Given the description of an element on the screen output the (x, y) to click on. 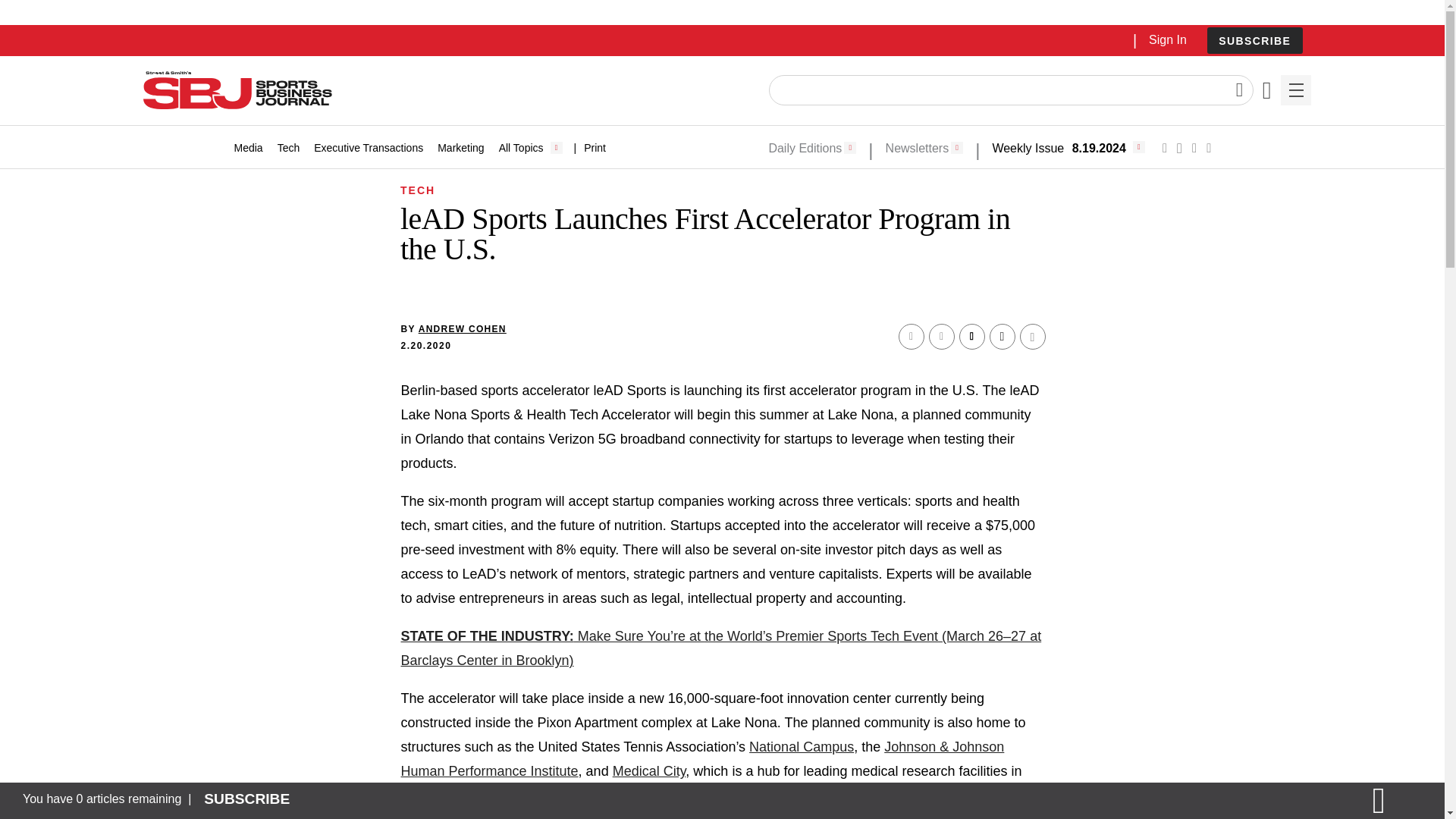
Menu (1294, 90)
SUBSCRIBE (1255, 40)
Sign In (1167, 40)
SUBSCRIBE (1254, 40)
SIGN IN (1194, 324)
